Given the description of an element on the screen output the (x, y) to click on. 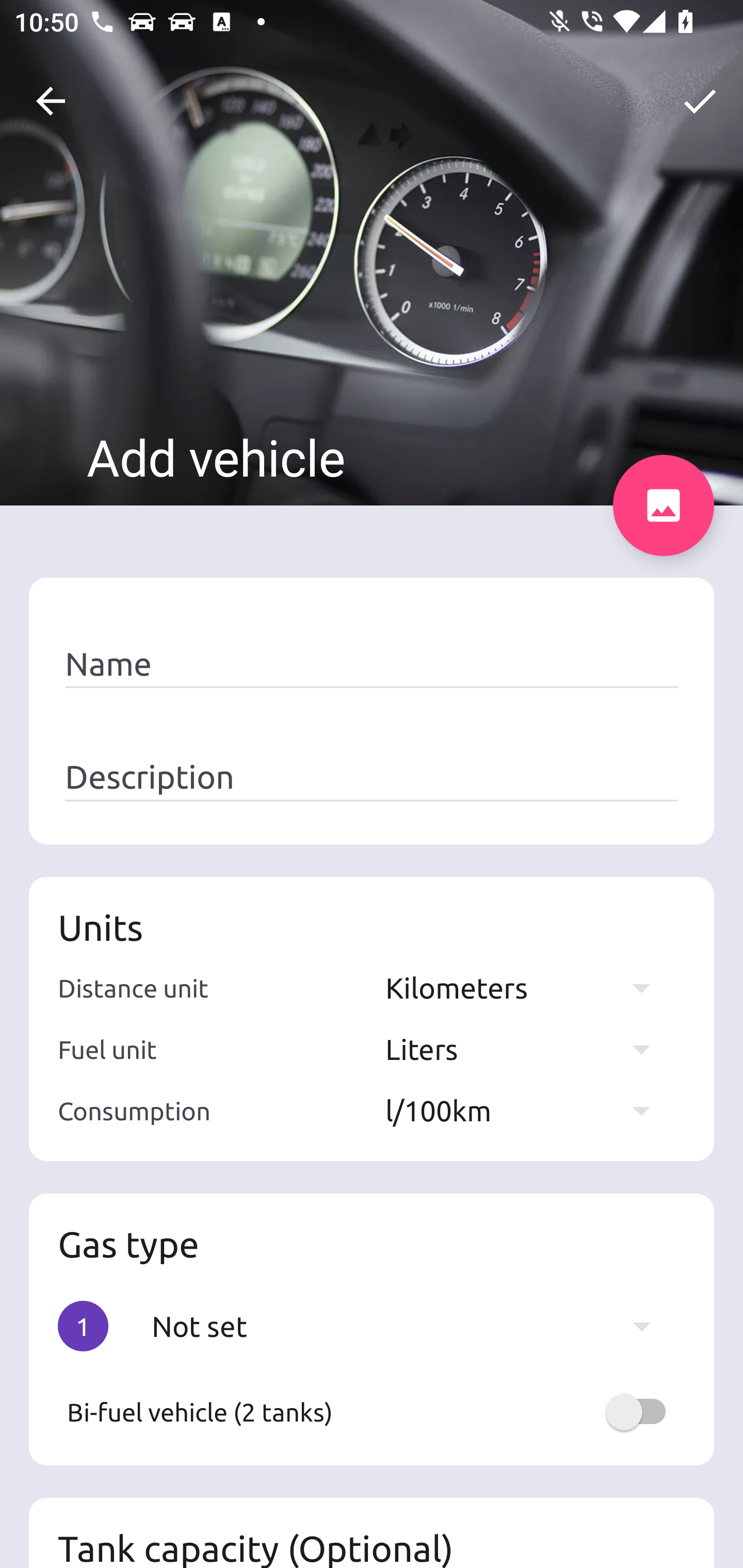
Navigate up (50, 101)
OK (699, 101)
Name (371, 664)
Description (371, 777)
Kilometers (527, 987)
Liters (527, 1048)
l/100km (527, 1110)
Not set (411, 1325)
Bi-fuel vehicle (2 tanks) (371, 1411)
